Given the description of an element on the screen output the (x, y) to click on. 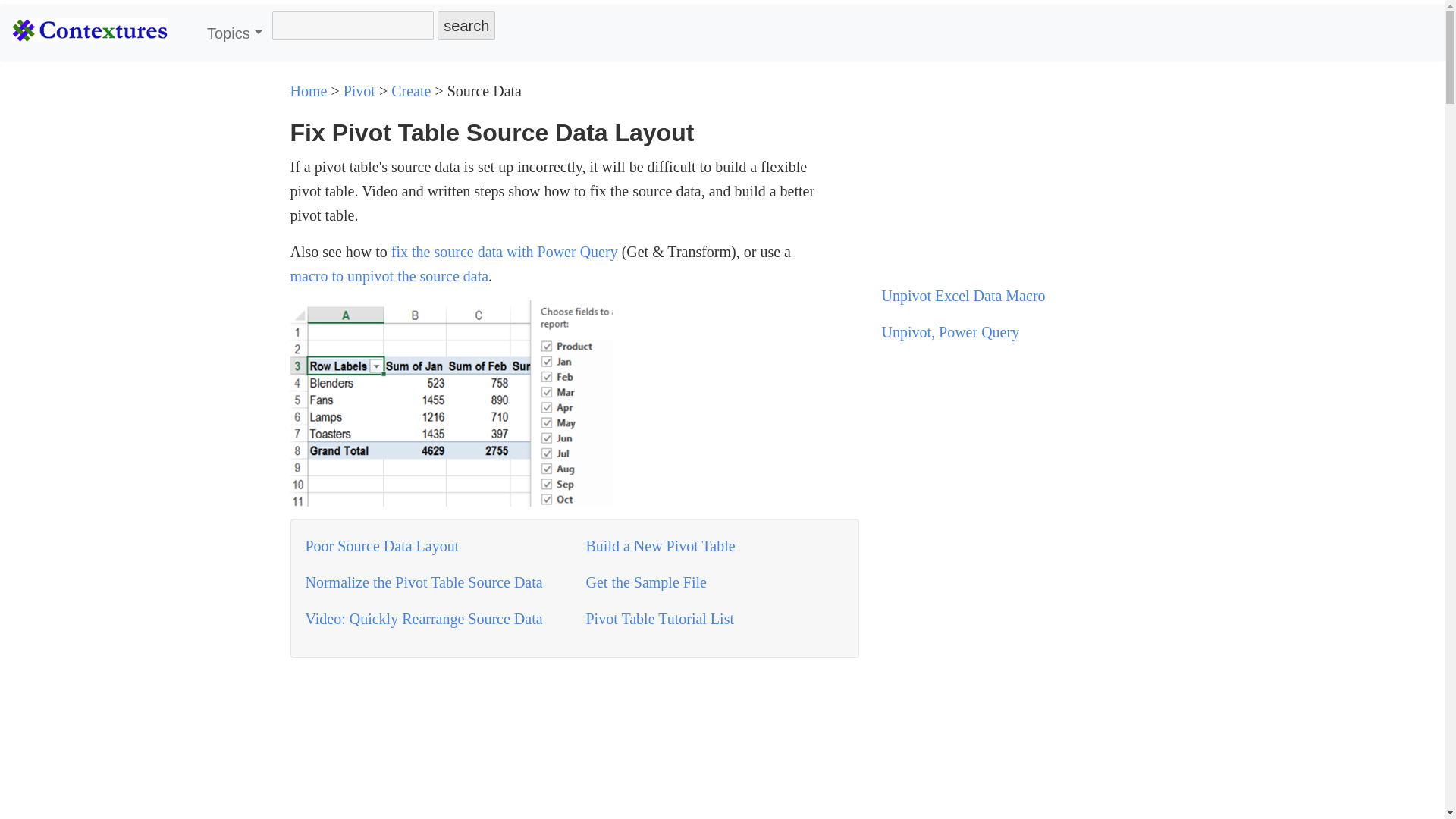
Home (307, 90)
Get the Sample File (645, 582)
Topics (234, 33)
macro to unpivot the source data (388, 275)
Build a New Pivot Table (660, 545)
Poor Source Data Layout (381, 545)
search (466, 25)
Video: Quickly Rearrange Source Data (422, 618)
Pivot (359, 90)
Normalize the Pivot Table Source Data (422, 582)
